Given the description of an element on the screen output the (x, y) to click on. 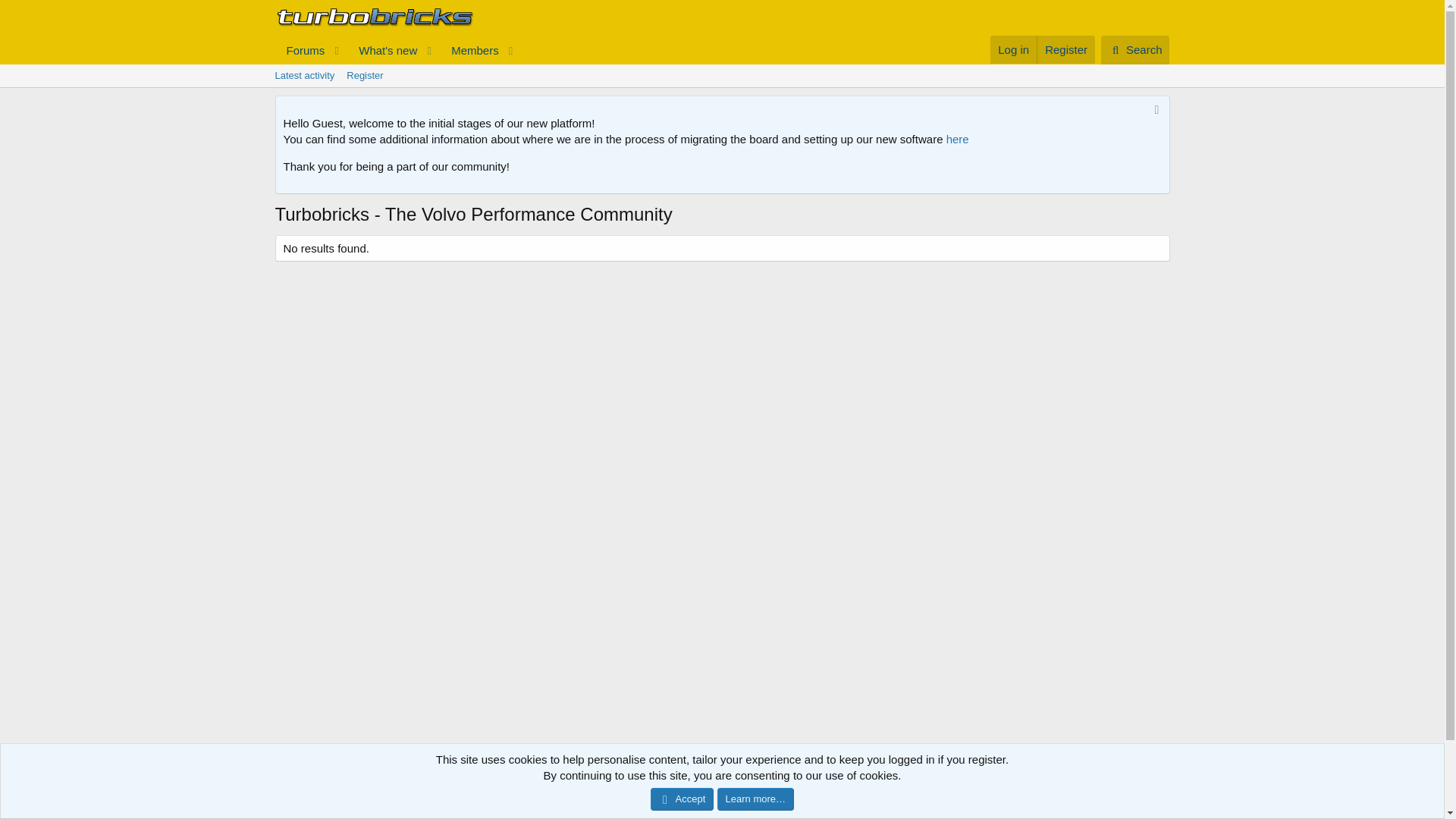
Home (1131, 776)
What's new (383, 50)
Contact us (899, 776)
Accept (681, 798)
Log in (1013, 49)
Privacy policy (1044, 776)
Help (1096, 776)
Latest activity (303, 75)
Terms and rules (720, 75)
RSS (397, 50)
Forums (397, 50)
Register (969, 776)
